Given the description of an element on the screen output the (x, y) to click on. 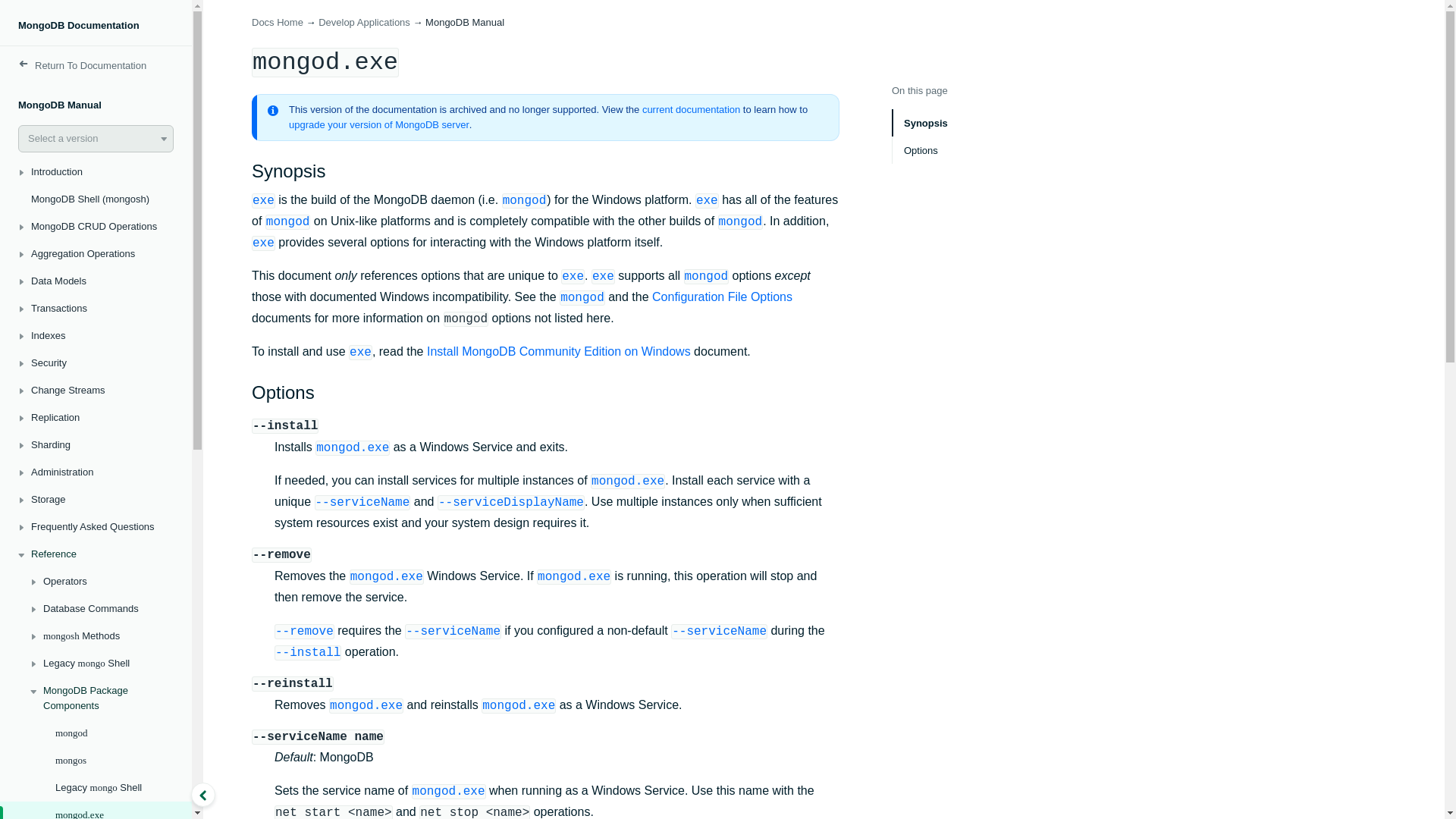
Legacy mongo Shell (96, 787)
Reference (96, 554)
Database Commands (96, 608)
Administration (96, 472)
Storage (96, 499)
Aggregation Operations (96, 253)
Select a version (95, 138)
Return To Documentation (96, 65)
mongod.exe (96, 810)
Indexes (96, 335)
